Given the description of an element on the screen output the (x, y) to click on. 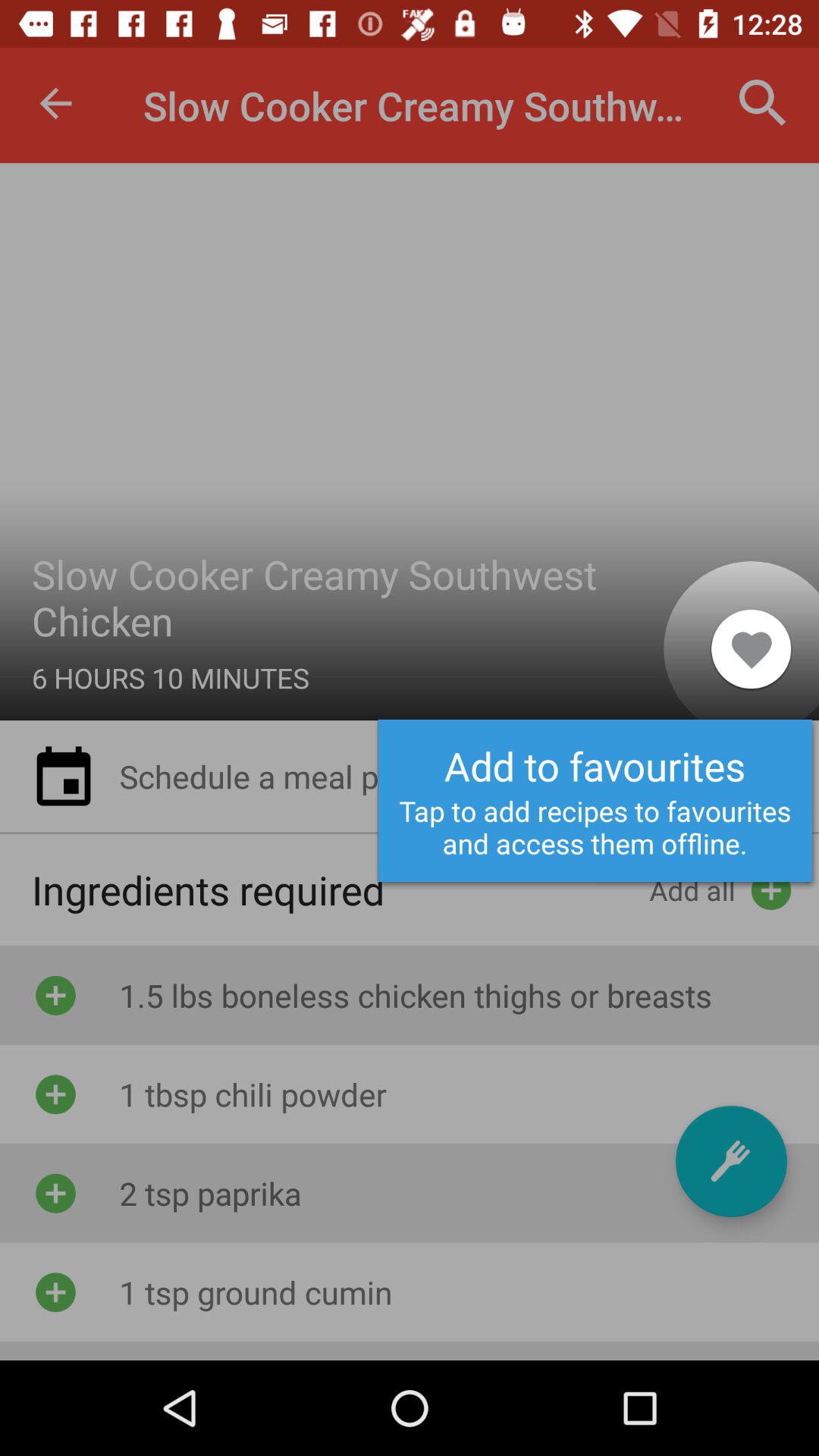
launch the item to the right of the slow cooker creamy item (751, 648)
